Given the description of an element on the screen output the (x, y) to click on. 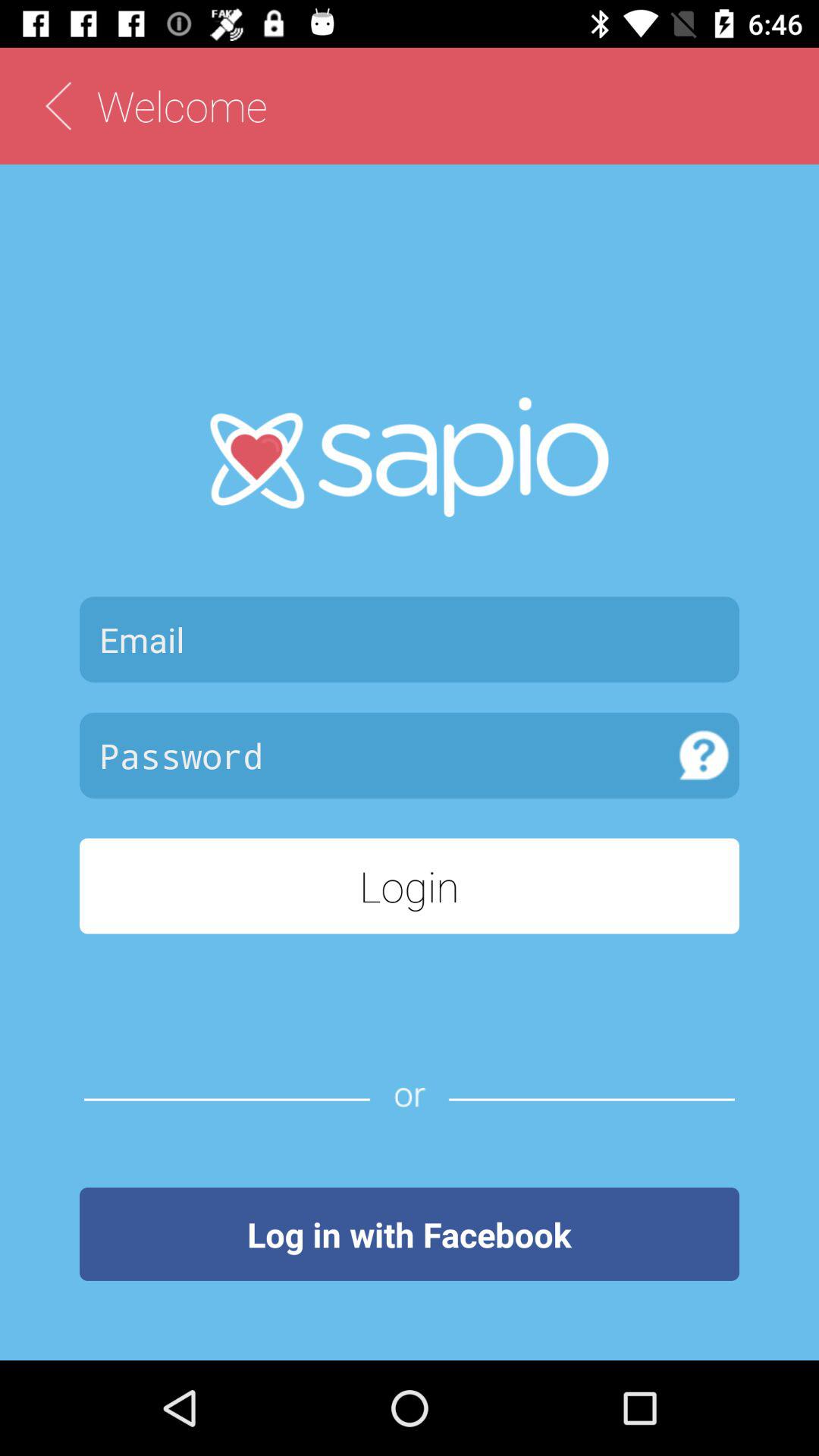
back to home page (57, 105)
